Given the description of an element on the screen output the (x, y) to click on. 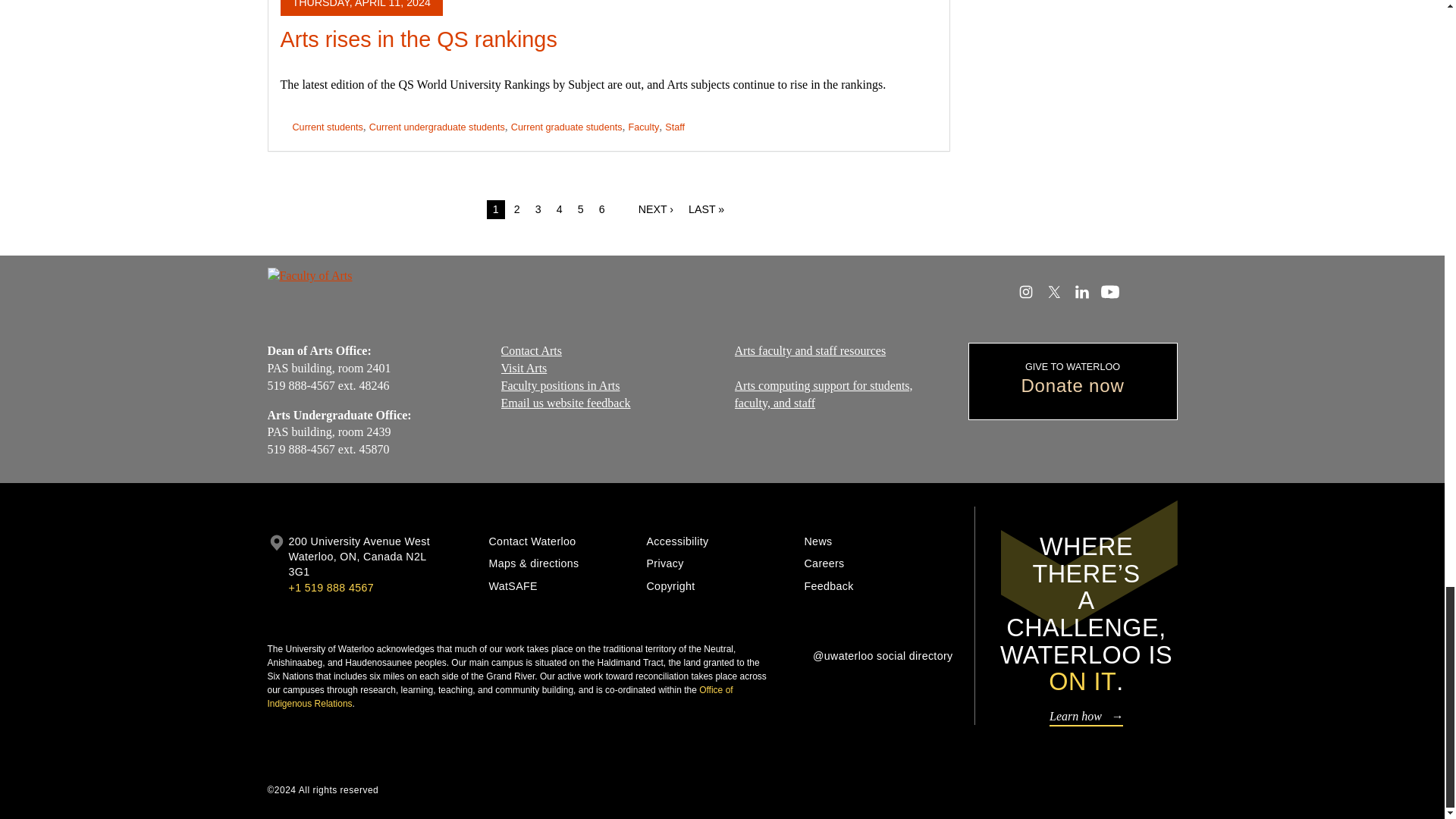
Go to last page (706, 209)
Go to page 4 (559, 209)
Go to next page (655, 209)
Go to page 5 (580, 209)
Go to page 6 (601, 209)
Go to page 3 (538, 209)
Go to page 2 (516, 209)
